Given the description of an element on the screen output the (x, y) to click on. 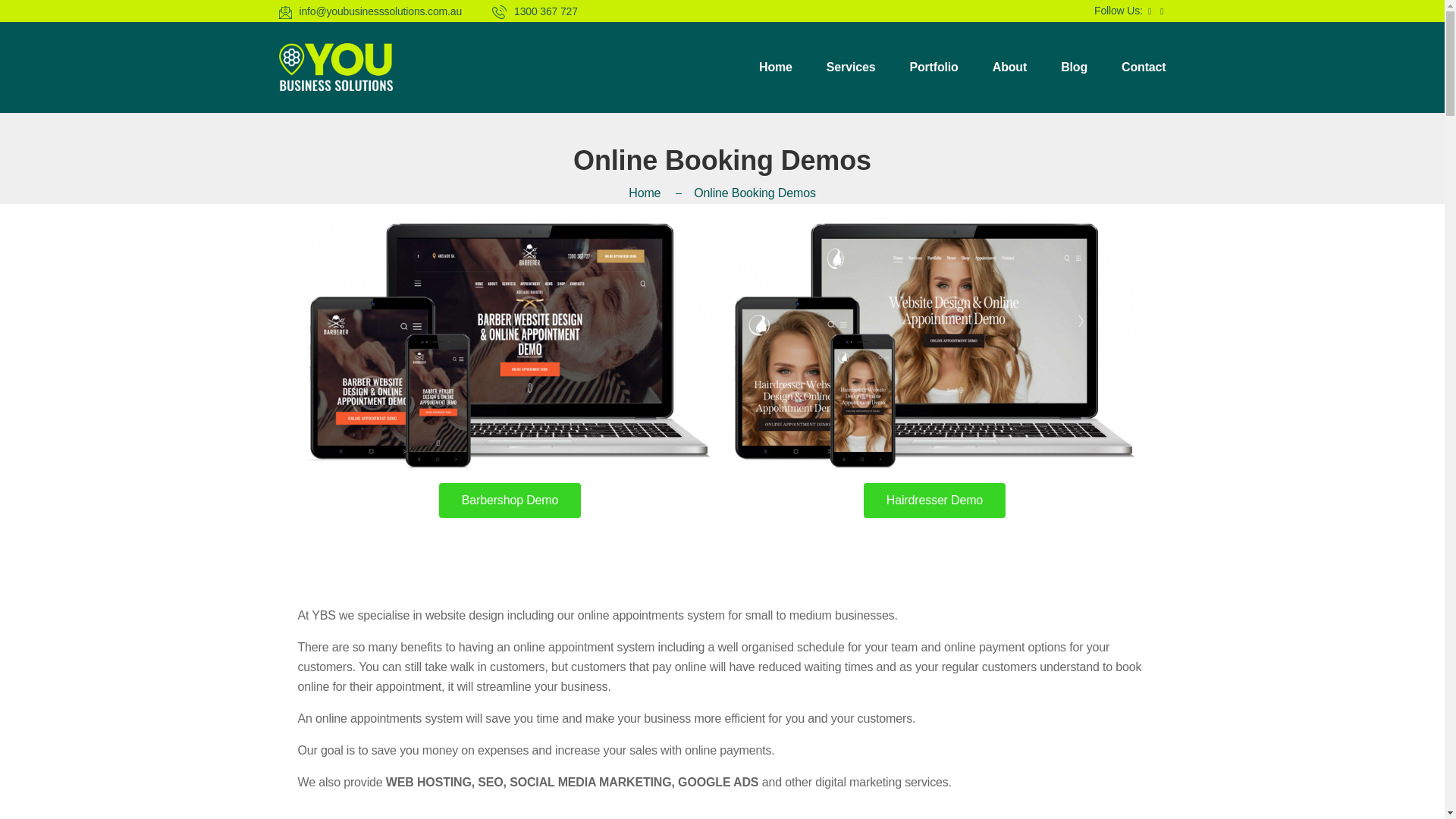
Home (661, 192)
Services (851, 67)
Blog (1074, 67)
Home (775, 67)
1300 367 727 (535, 10)
Portfolio (933, 67)
About (1009, 67)
